Given the description of an element on the screen output the (x, y) to click on. 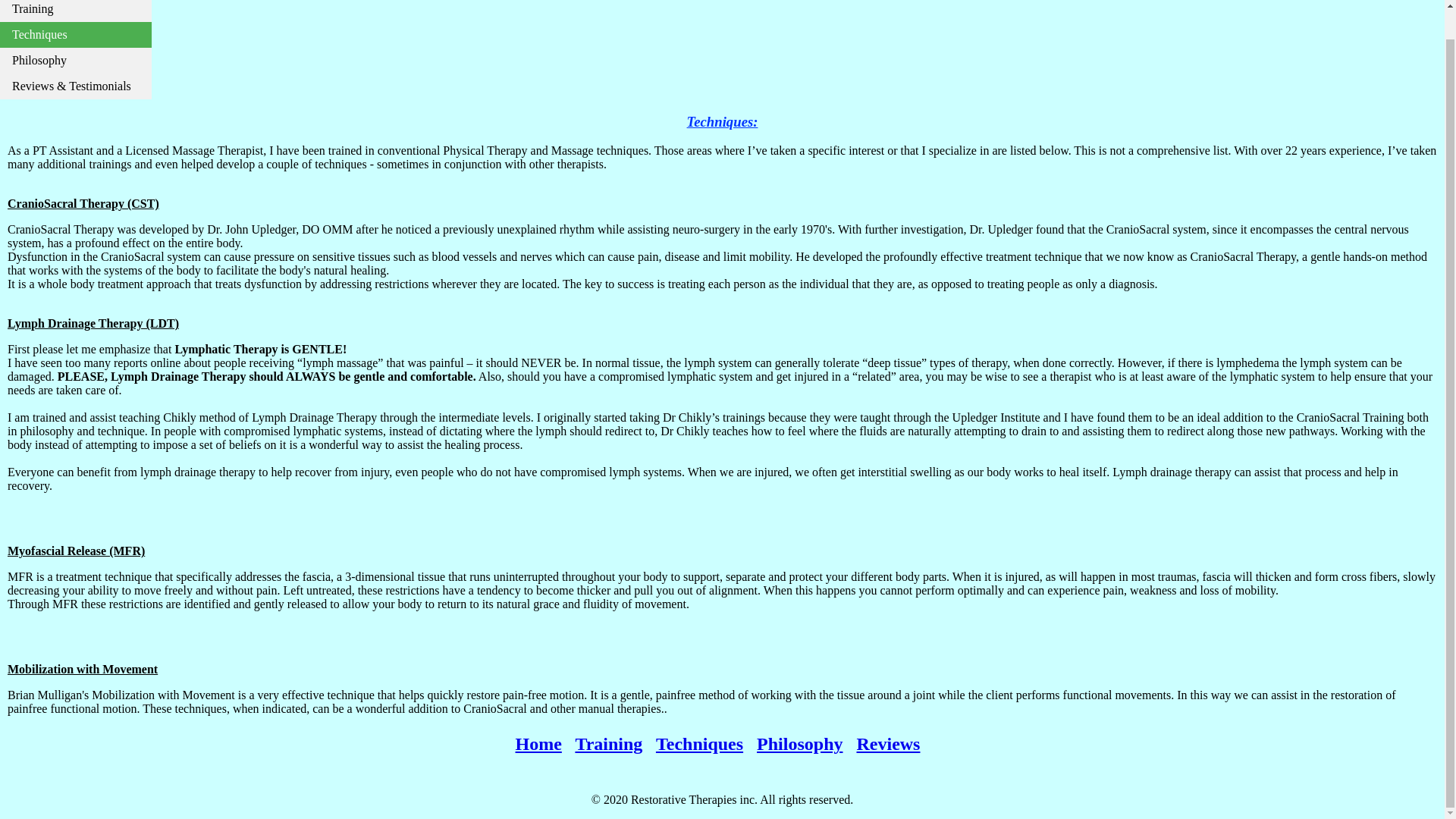
Philosophy (800, 743)
Techniques (699, 743)
Home (538, 743)
Philosophy (75, 60)
Reviews (888, 743)
Training (75, 11)
Techniques (75, 34)
Training (608, 743)
